Given the description of an element on the screen output the (x, y) to click on. 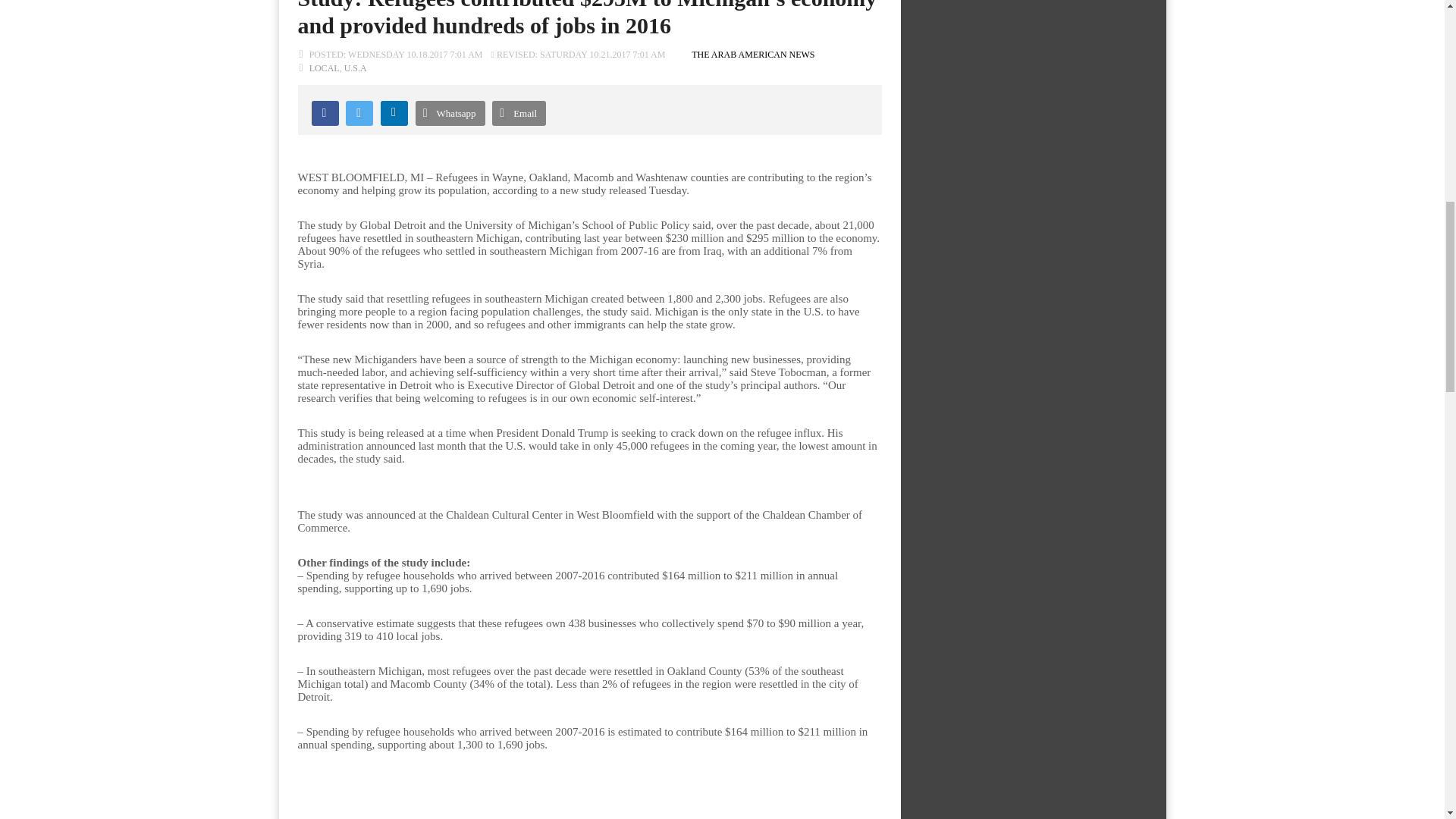
Update Article (578, 53)
View all posts in U.S.A (354, 68)
View all posts in Local (323, 68)
